Given the description of an element on the screen output the (x, y) to click on. 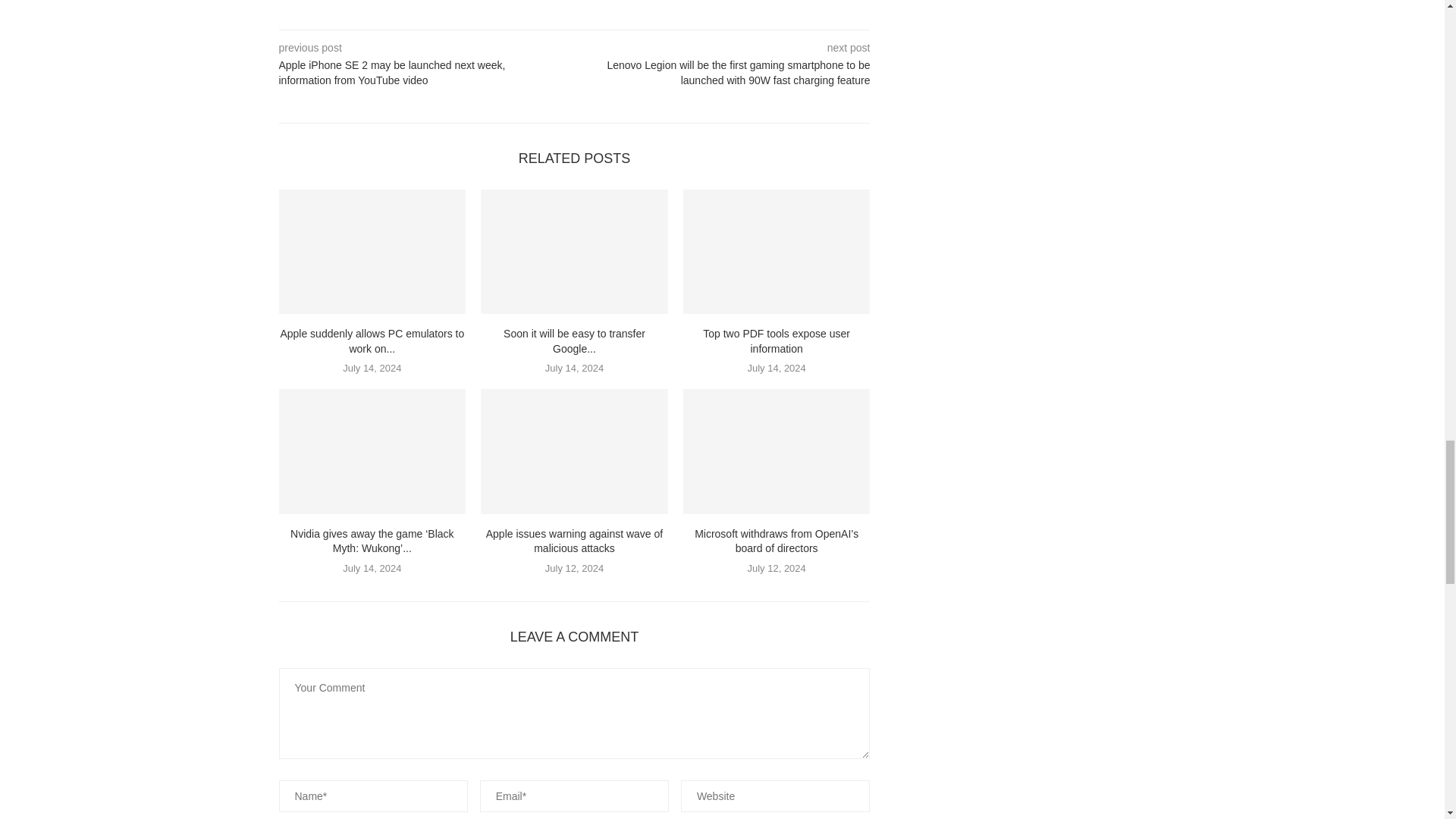
Top two PDF tools expose user information (776, 251)
Apple issues warning against wave of malicious attacks (574, 451)
Apple suddenly allows PC emulators to work on iPhone (372, 251)
